Given the description of an element on the screen output the (x, y) to click on. 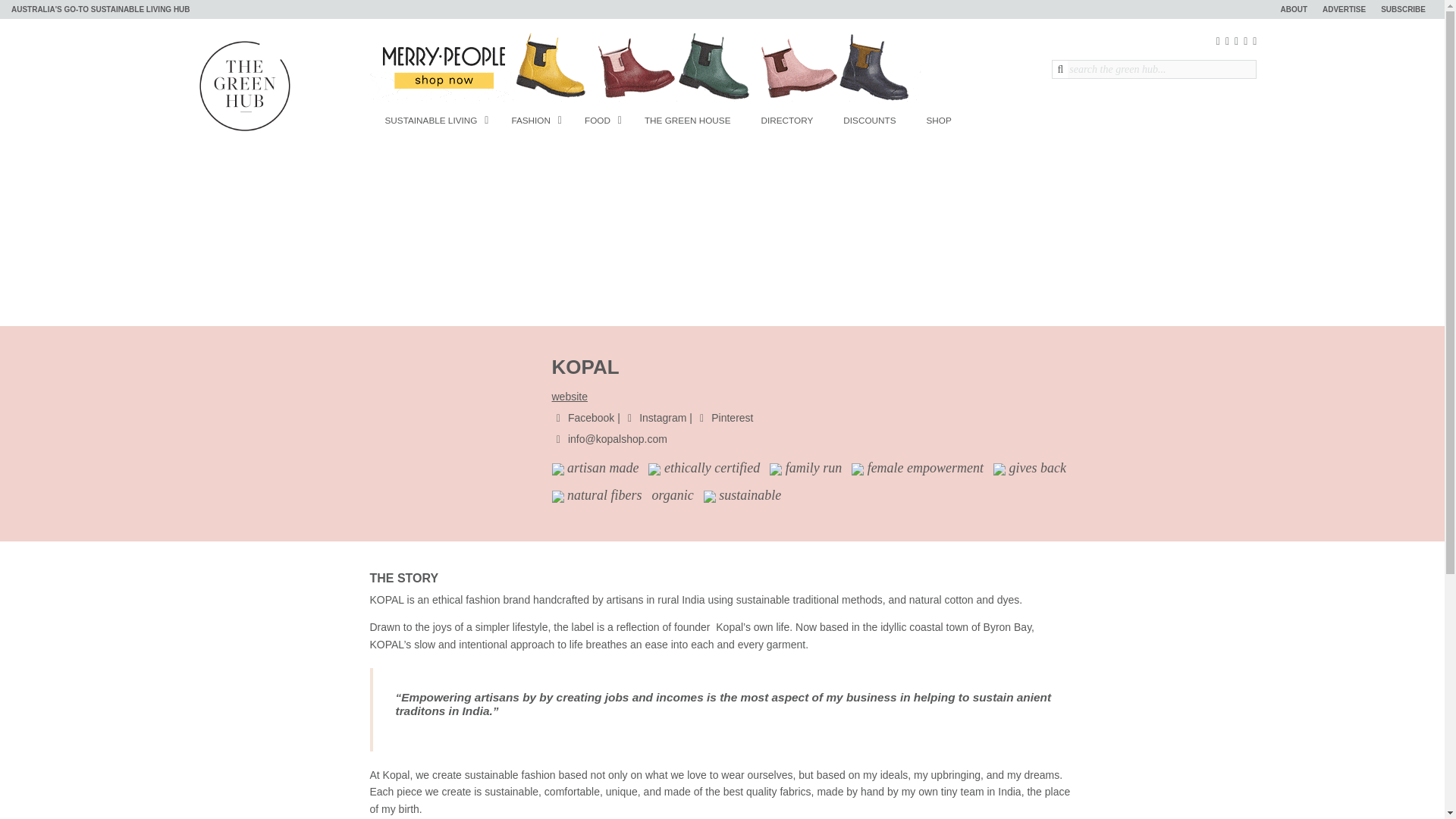
About (1294, 9)
SUSTAINABLE LIVING (432, 119)
FOOD (598, 119)
ADVERTISE (1343, 9)
FASHION (532, 119)
The Green Hub (244, 84)
ABOUT (1294, 9)
Subscribe (1402, 9)
SUBSCRIBE (1402, 9)
